Given the description of an element on the screen output the (x, y) to click on. 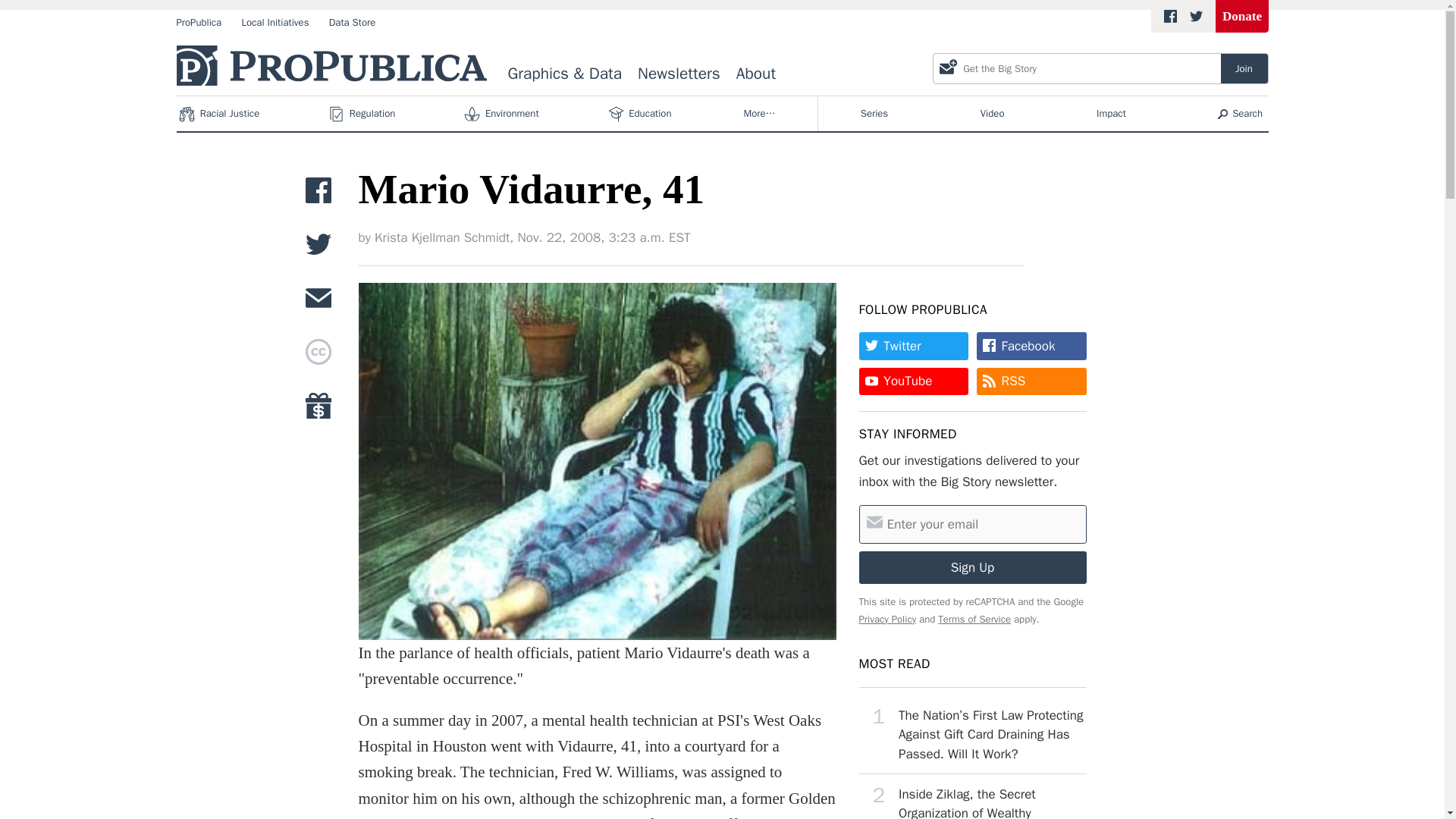
Join (1244, 68)
Regulation (363, 113)
Sign Up (972, 567)
Video (992, 113)
Rich Site Summary (1013, 381)
Krista Kjellman Schmidt (441, 238)
Newsletters (679, 74)
Education (641, 113)
Data Store (352, 22)
Sign Up (972, 567)
Search (1240, 113)
Impact (1111, 113)
Environment (502, 113)
About (755, 74)
RSS (1031, 380)
